Given the description of an element on the screen output the (x, y) to click on. 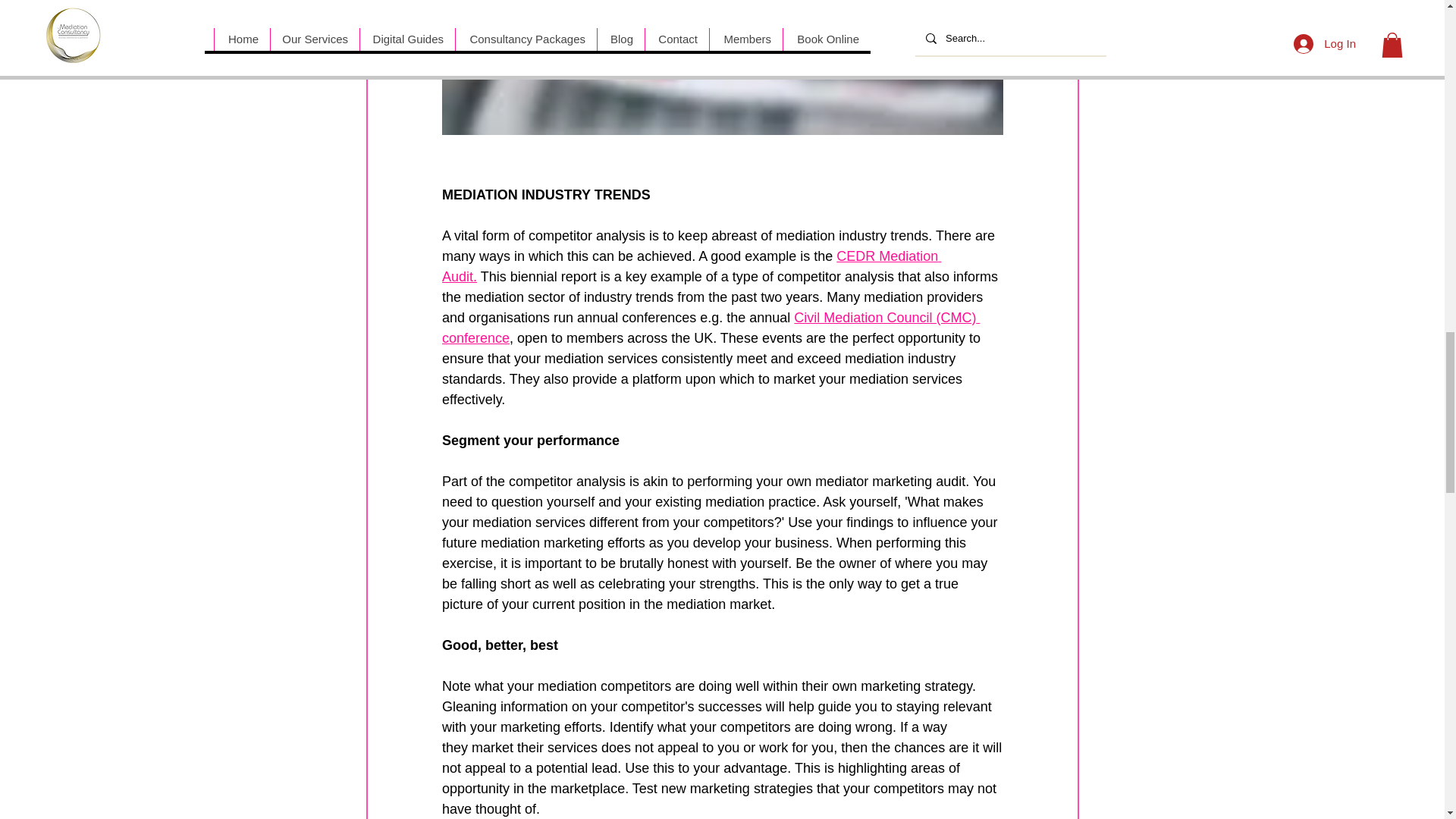
CEDR Mediation Audit. (690, 266)
